Given the description of an element on the screen output the (x, y) to click on. 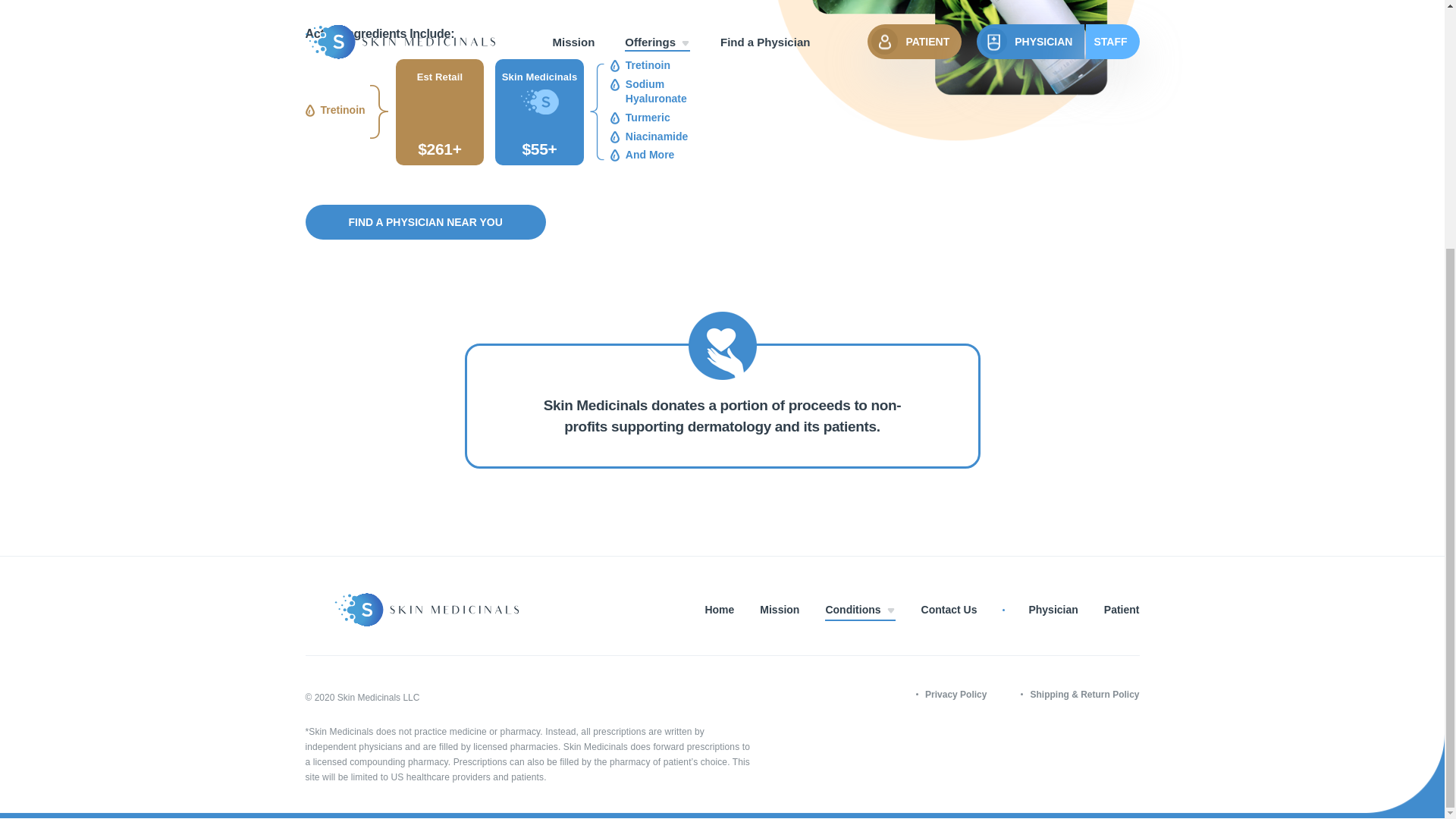
Conditions (860, 609)
Home (718, 609)
FIND A PHYSICIAN NEAR YOU (424, 221)
Mission (779, 609)
